Given the description of an element on the screen output the (x, y) to click on. 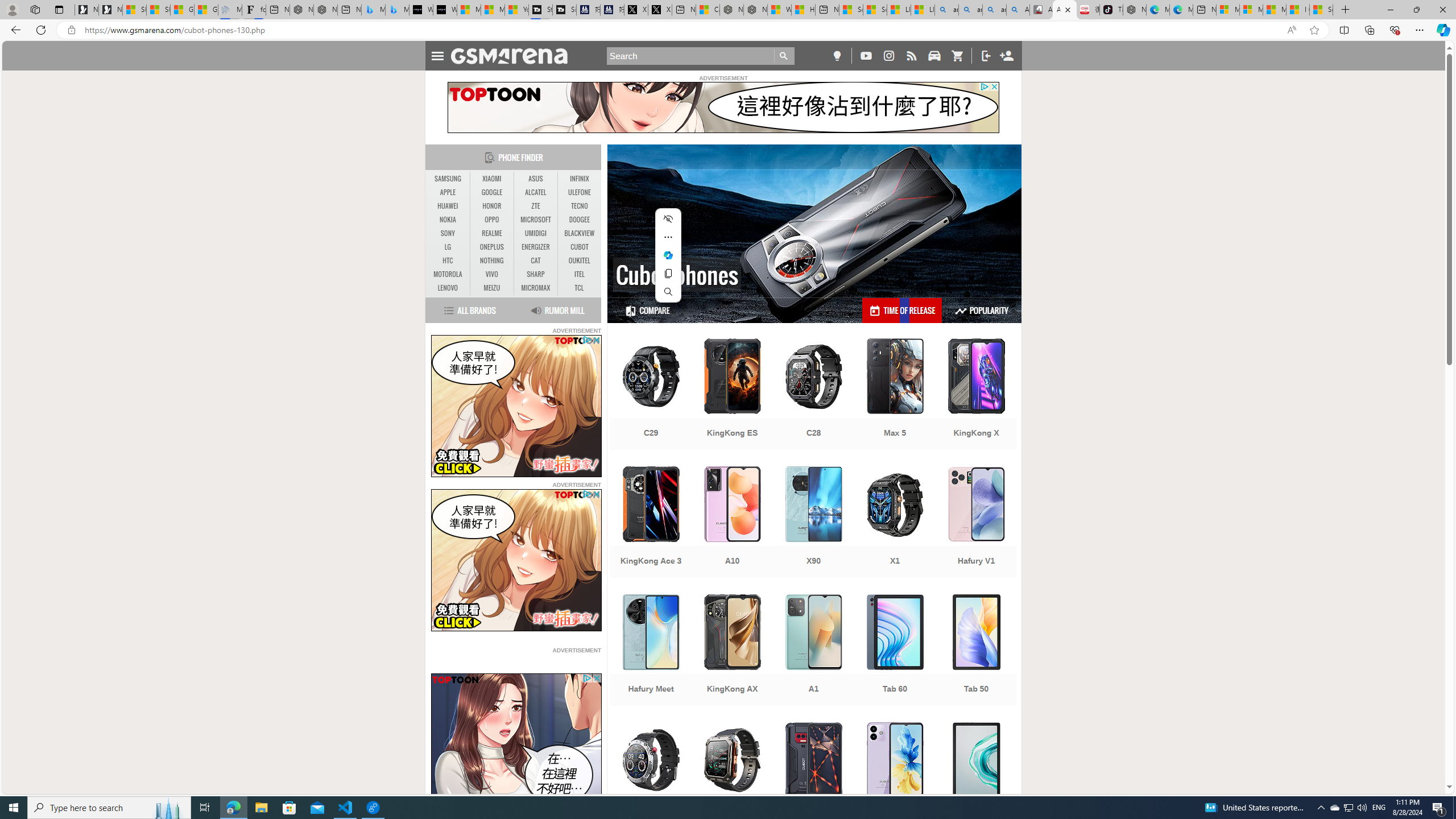
REALME (491, 233)
ZTE (535, 205)
Microsoft Bing Travel - Shangri-La Hotel Bangkok (396, 9)
MOTOROLA (448, 273)
TCL (579, 287)
ITEL (579, 273)
Tab 50 (976, 651)
Ask Copilot (668, 255)
CUBOT (579, 246)
Nordace - #1 Japanese Best-Seller - Siena Smart Backpack (325, 9)
BLACKVIEW (579, 233)
